Given the description of an element on the screen output the (x, y) to click on. 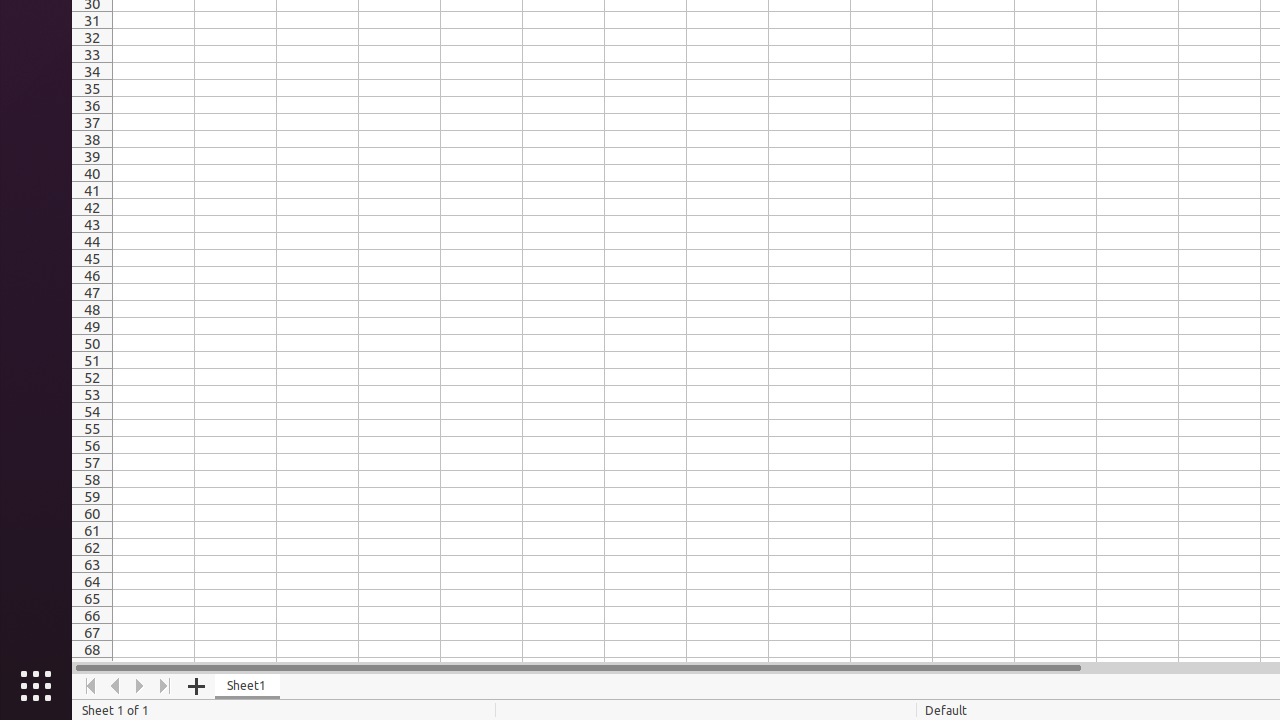
Show Applications Element type: toggle-button (36, 686)
